Given the description of an element on the screen output the (x, y) to click on. 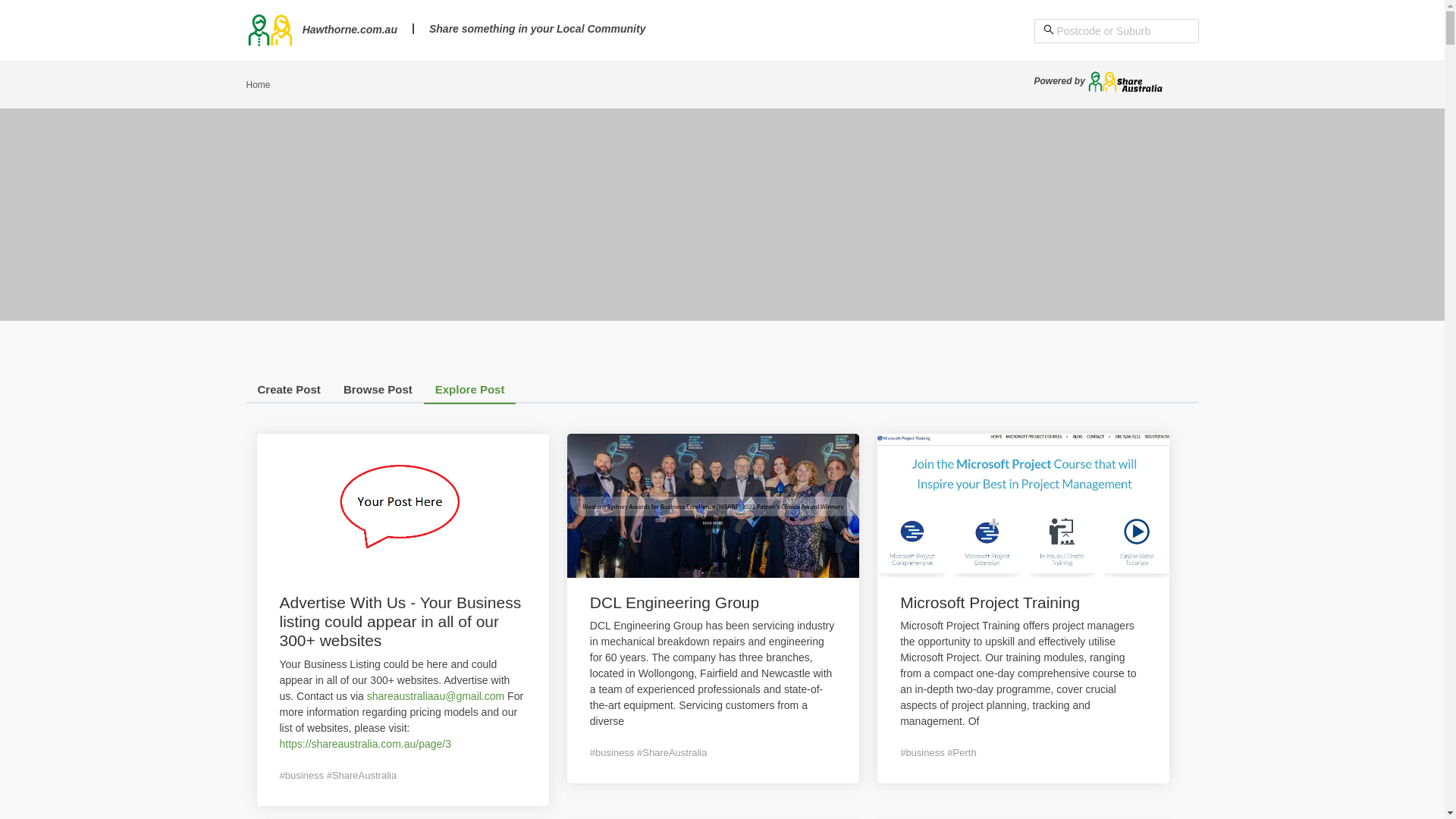
Advertisement Element type: hover (721, 214)
Powered by Element type: text (1099, 80)
Hawthorne.com.au Element type: text (320, 29)
Explore Post Element type: text (469, 392)
https://shareaustralia.com.au/page/3 Element type: text (364, 743)
DCL Engineering Group Element type: text (674, 602)
Create Post Element type: text (288, 392)
shareaustraliaau@gmail.com Element type: text (437, 696)
Browse Post Element type: text (377, 392)
Microsoft Project Training Element type: text (989, 602)
